Given the description of an element on the screen output the (x, y) to click on. 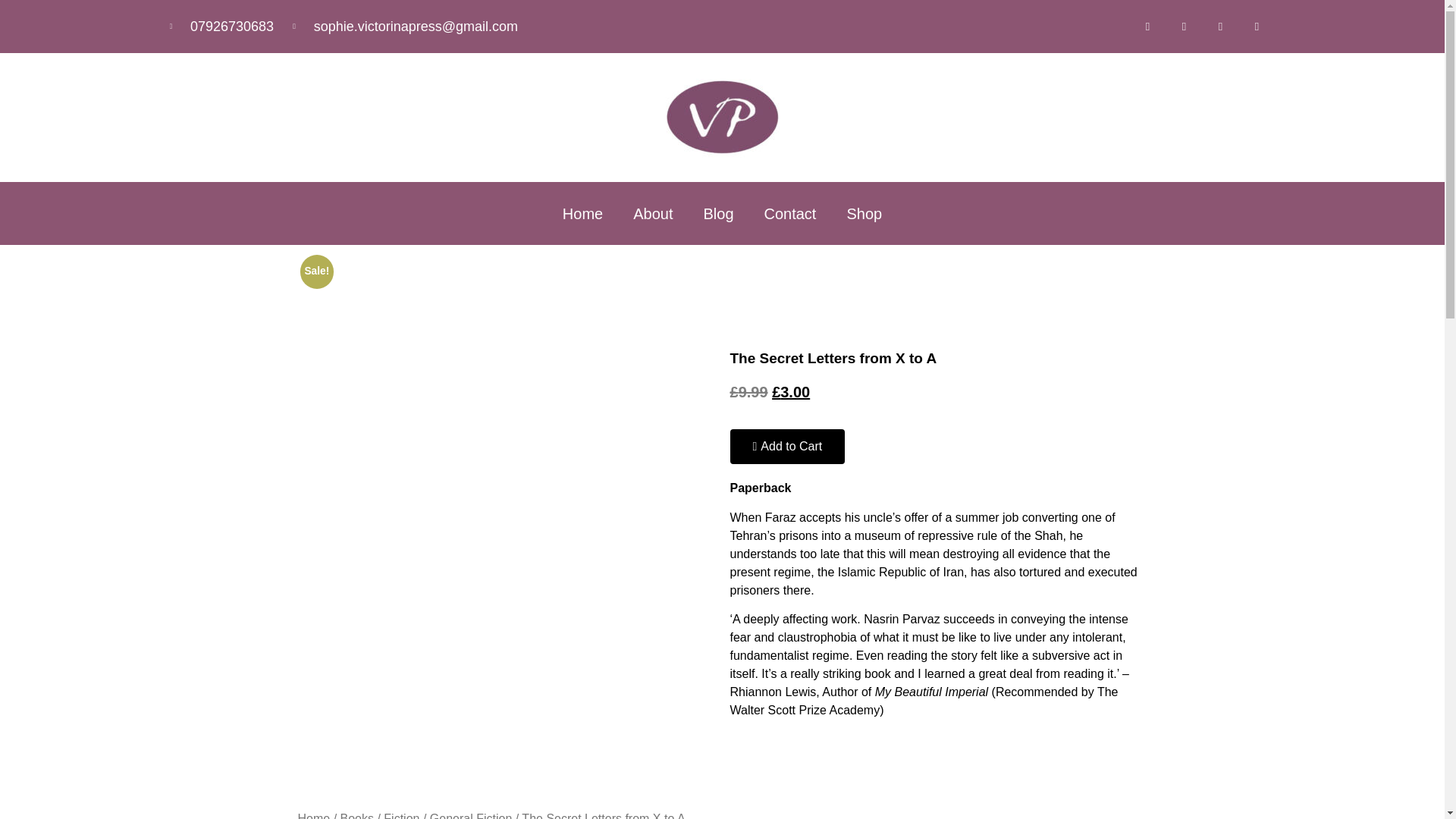
Home (313, 815)
Fiction (401, 815)
Add to Cart (786, 446)
Books (357, 815)
General Fiction (470, 815)
